Given the description of an element on the screen output the (x, y) to click on. 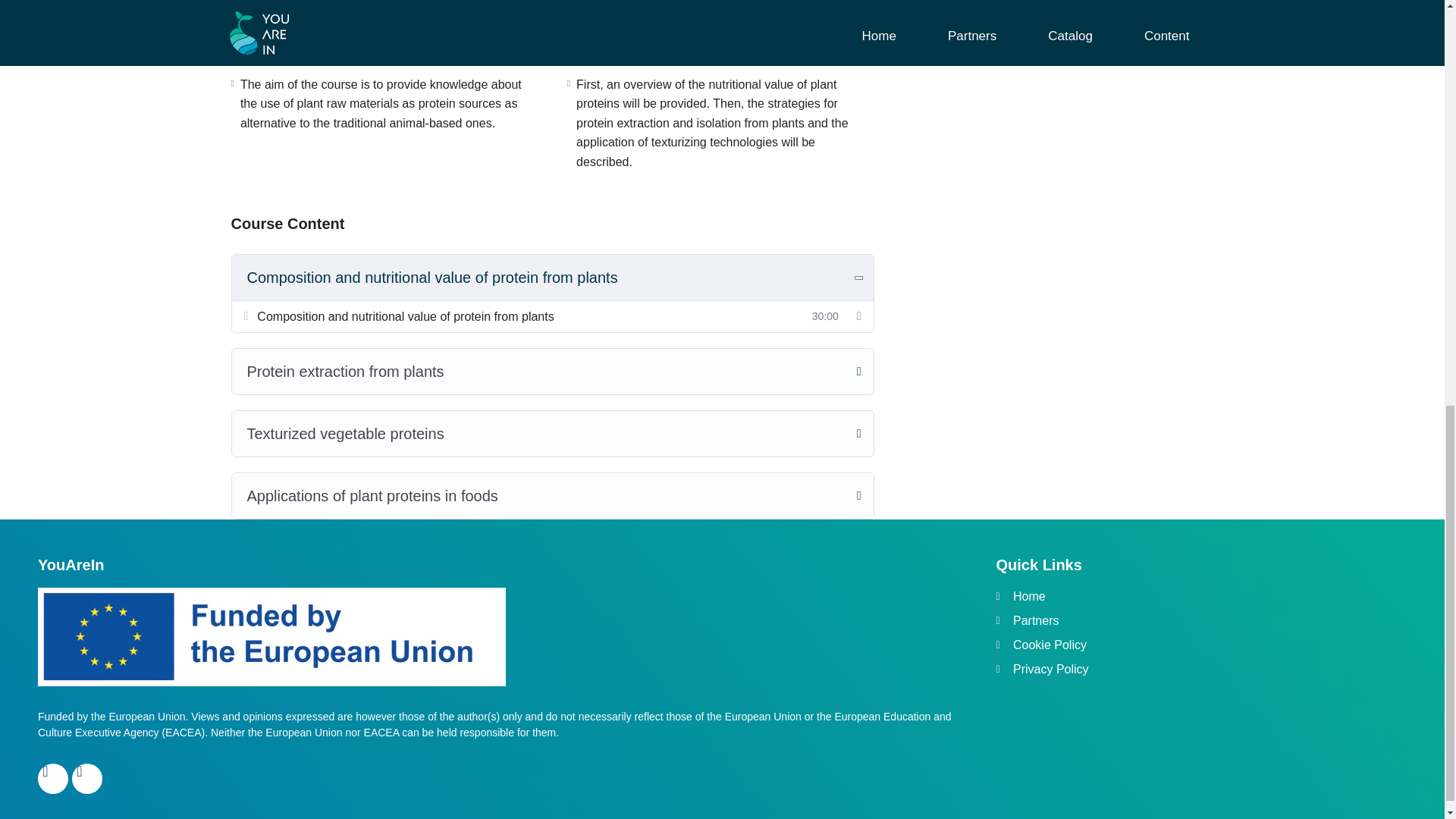
Cookie Policy (1201, 645)
Privacy Policy (1201, 669)
Home (1201, 597)
Partners (1201, 620)
